Given the description of an element on the screen output the (x, y) to click on. 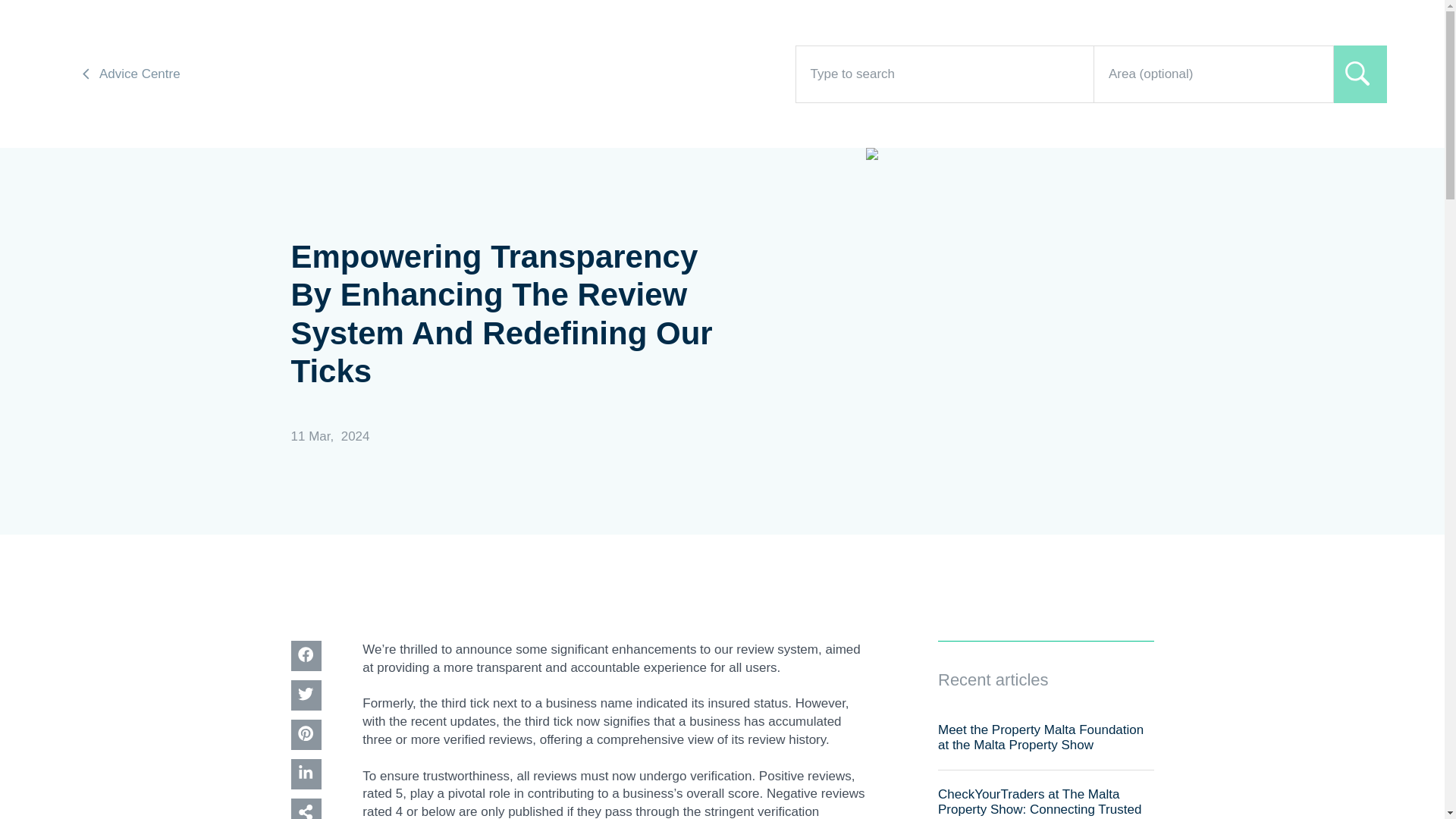
Advice Centre (130, 74)
Advice Centre (130, 75)
